Given the description of an element on the screen output the (x, y) to click on. 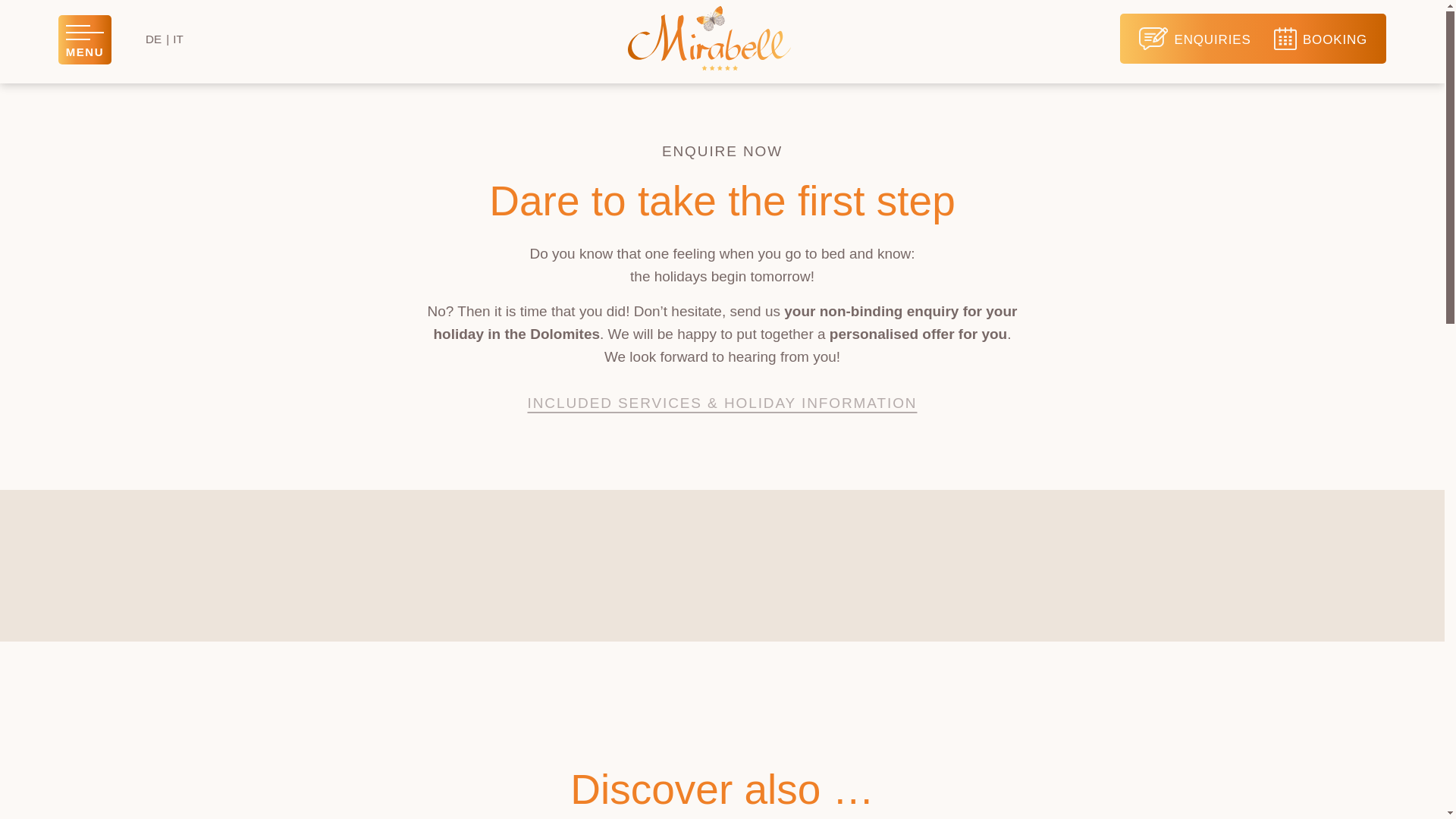
   MENU (85, 39)
DE (153, 38)
